Given the description of an element on the screen output the (x, y) to click on. 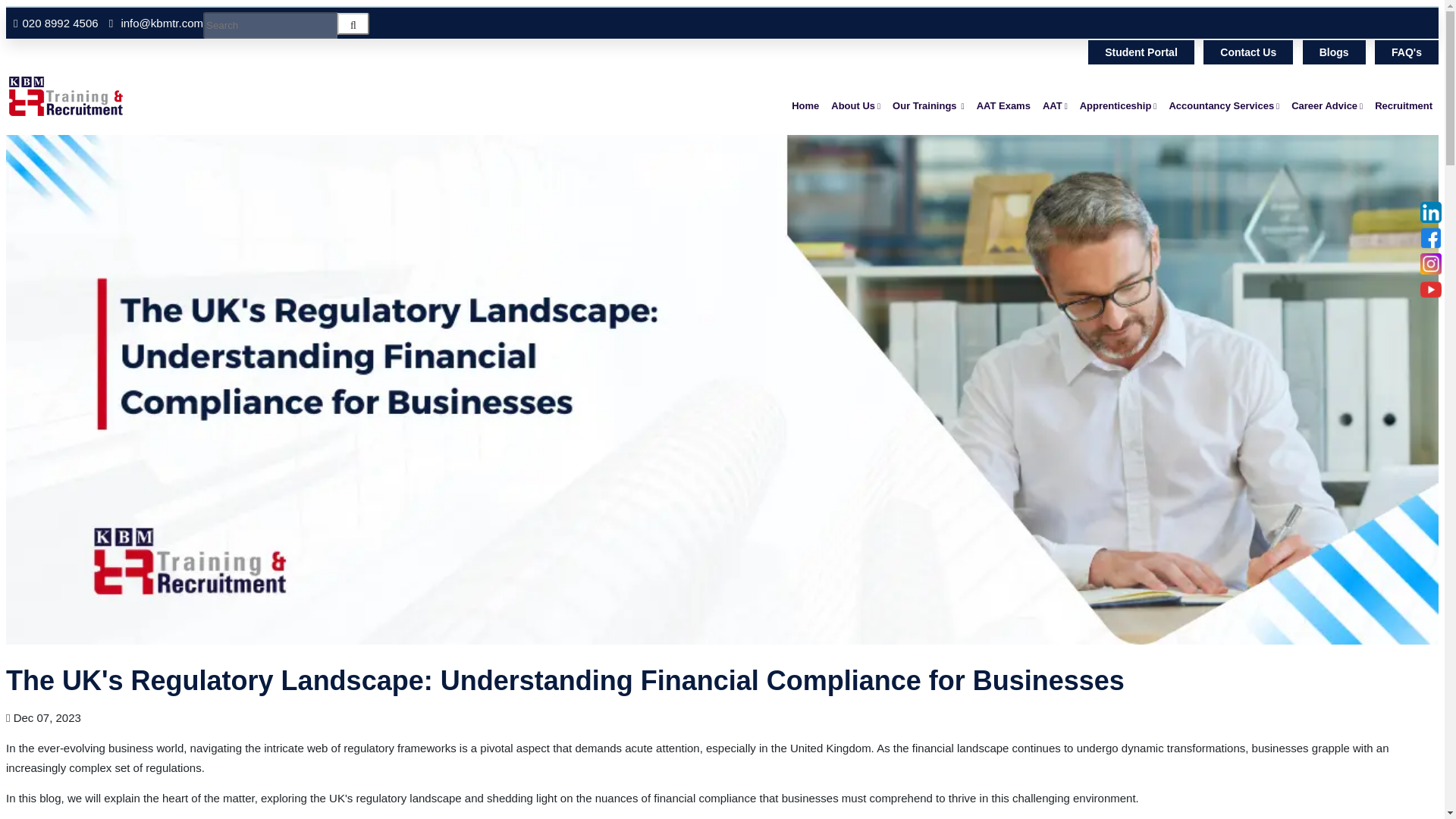
instagram (1431, 263)
Student Portal (1140, 52)
Youtube (1431, 289)
About Us (855, 106)
linkedin (1431, 211)
AAT Exams (1003, 106)
Home (805, 106)
facebook (1431, 237)
Our Trainings (928, 106)
AAT (1055, 106)
Blogs (1334, 52)
Contact Us (1248, 52)
020 8992 4506 (59, 22)
FAQ's (1406, 52)
